Given the description of an element on the screen output the (x, y) to click on. 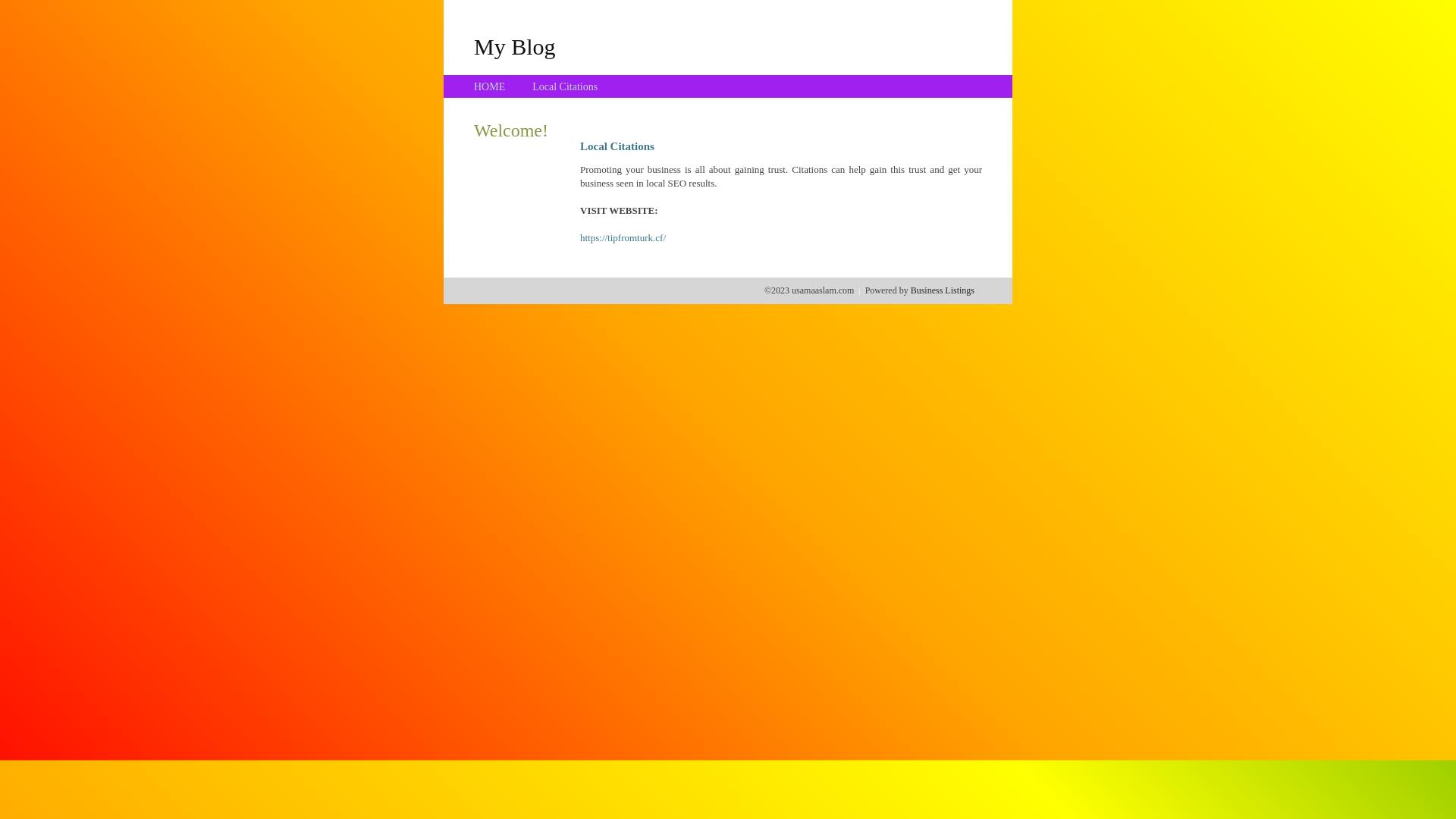
HOME Element type: text (489, 86)
Business Listings Element type: text (942, 290)
https://tipfromturk.cf/ Element type: text (622, 237)
Local Citations Element type: text (564, 86)
My Blog Element type: text (514, 46)
